Given the description of an element on the screen output the (x, y) to click on. 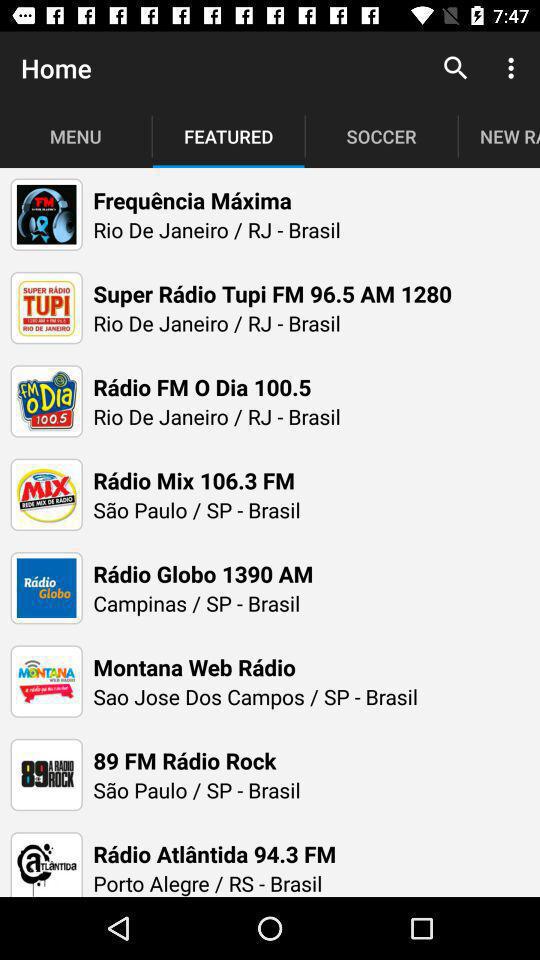
launch icon above the new radios icon (513, 67)
